Given the description of an element on the screen output the (x, y) to click on. 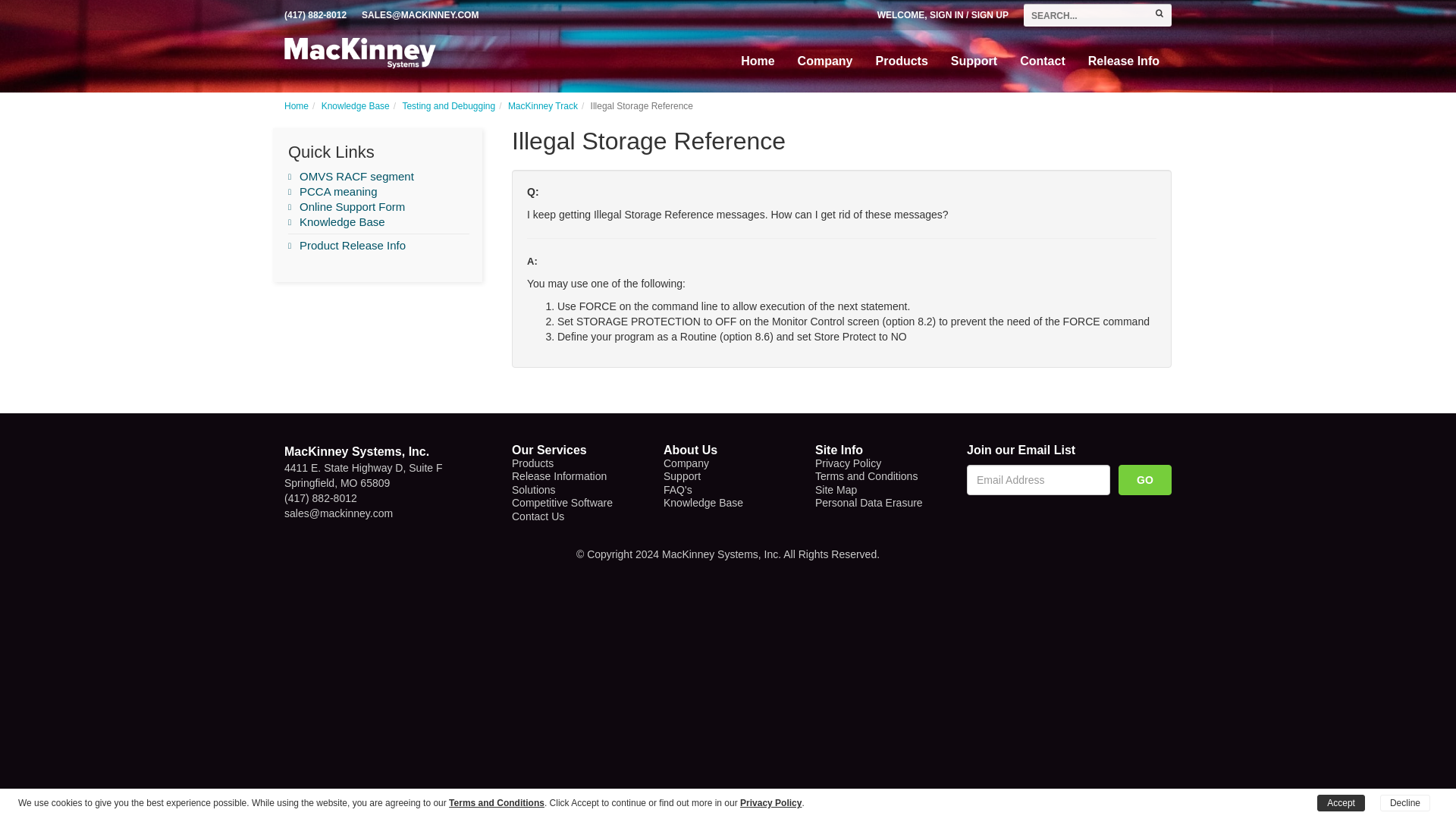
Products (901, 61)
SIGN IN (946, 14)
SIGN UP (990, 14)
Home (757, 61)
submit (1158, 13)
Company (825, 61)
GO (1145, 480)
submit (1158, 13)
